Given the description of an element on the screen output the (x, y) to click on. 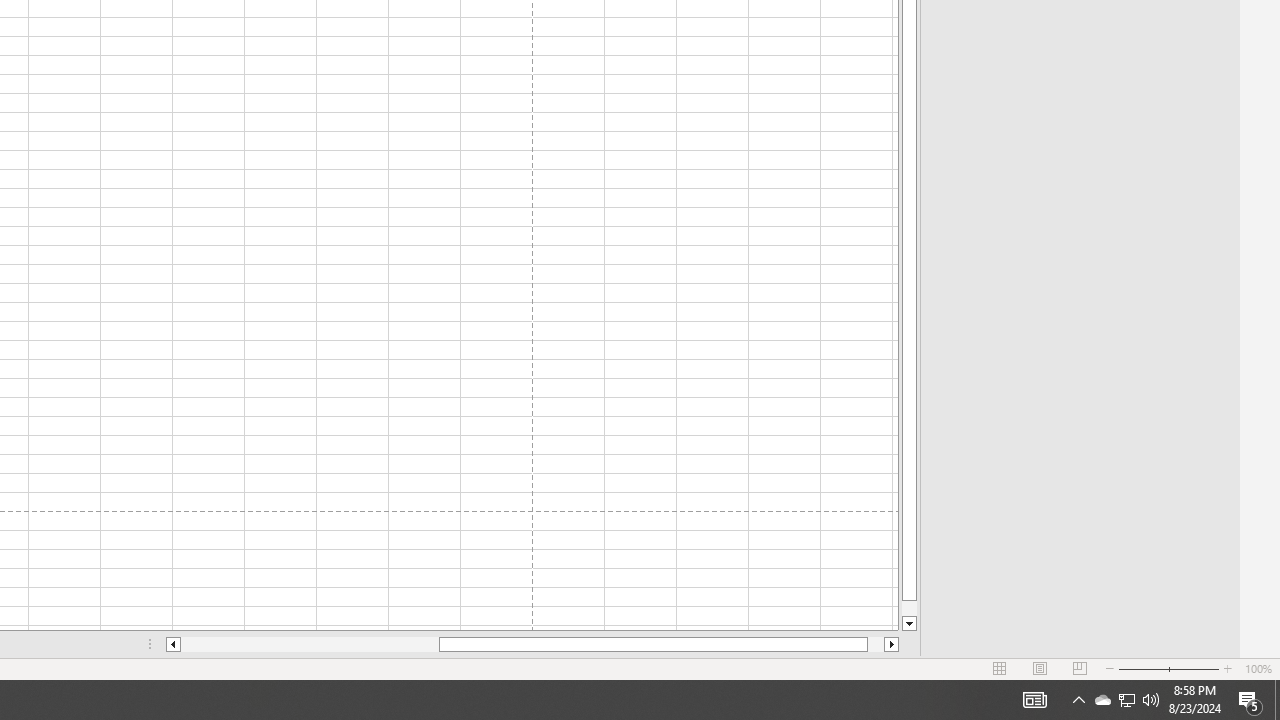
Show desktop (1277, 699)
